Given the description of an element on the screen output the (x, y) to click on. 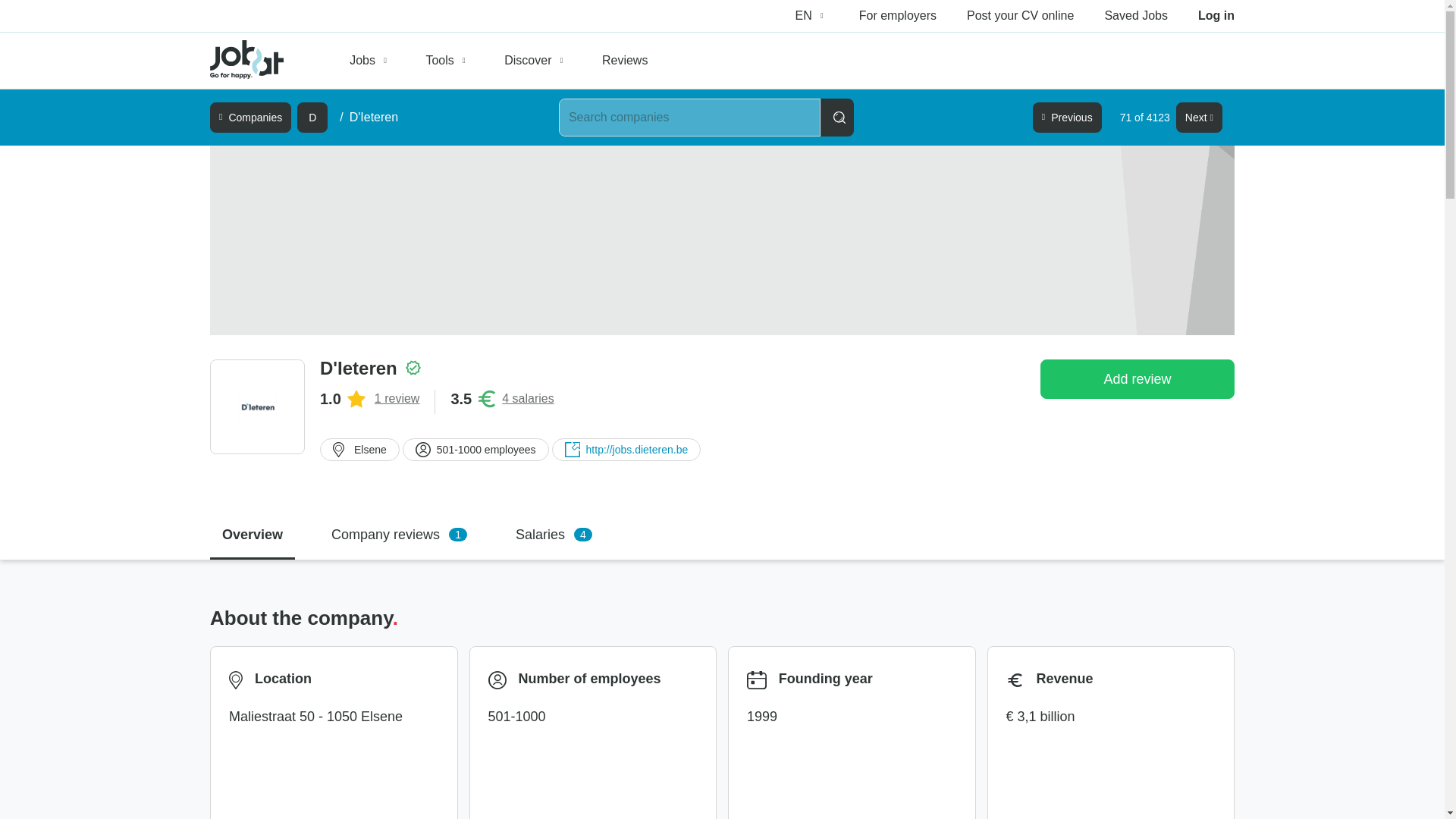
Discover (535, 60)
1 review (397, 398)
Companies (250, 117)
Reviews (624, 60)
D (312, 117)
Jobs (370, 60)
Jobs (370, 60)
Tools (447, 60)
Tools (447, 60)
Previous (1067, 117)
